Given the description of an element on the screen output the (x, y) to click on. 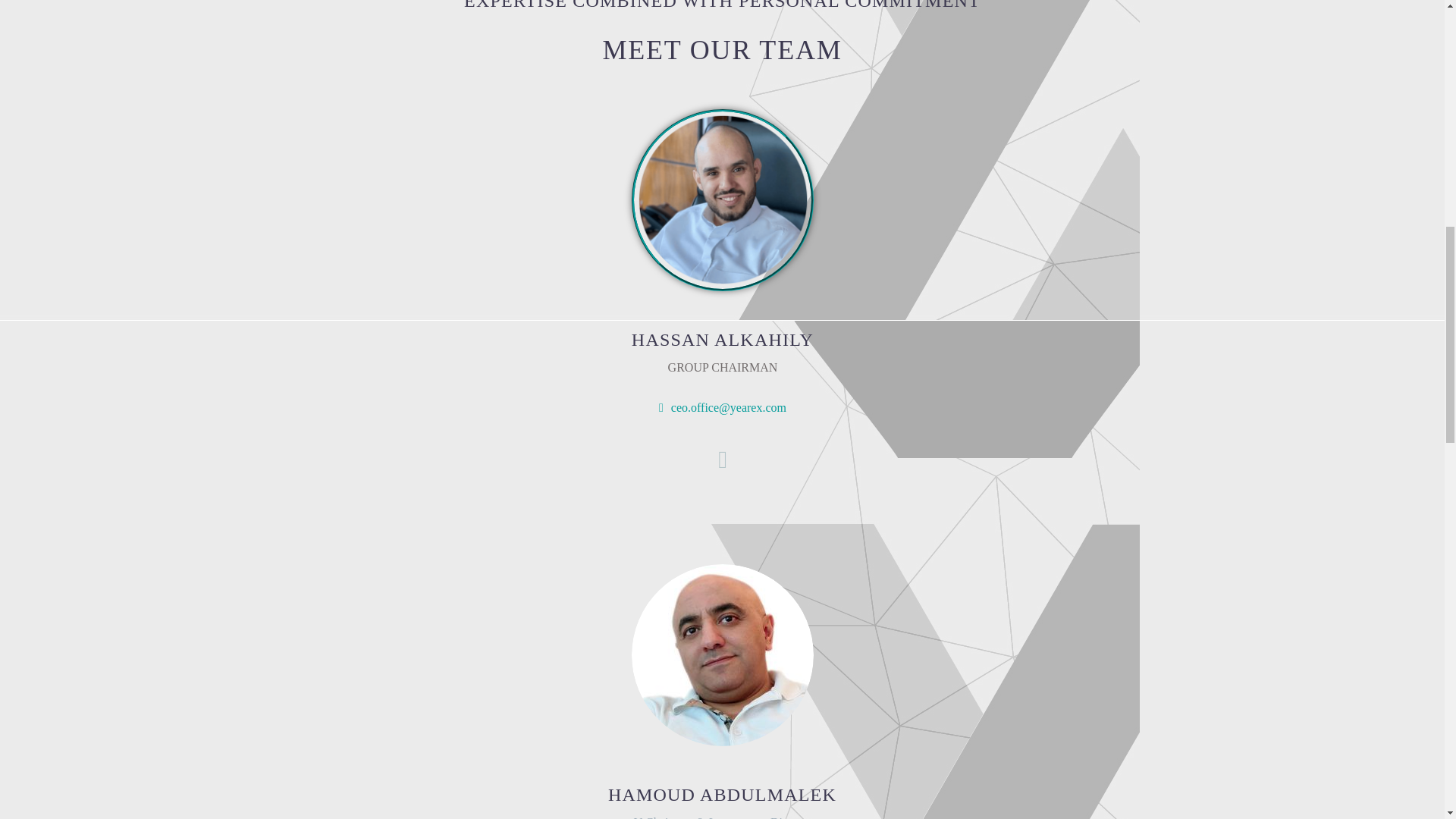
LinkedIn (721, 459)
